Given the description of an element on the screen output the (x, y) to click on. 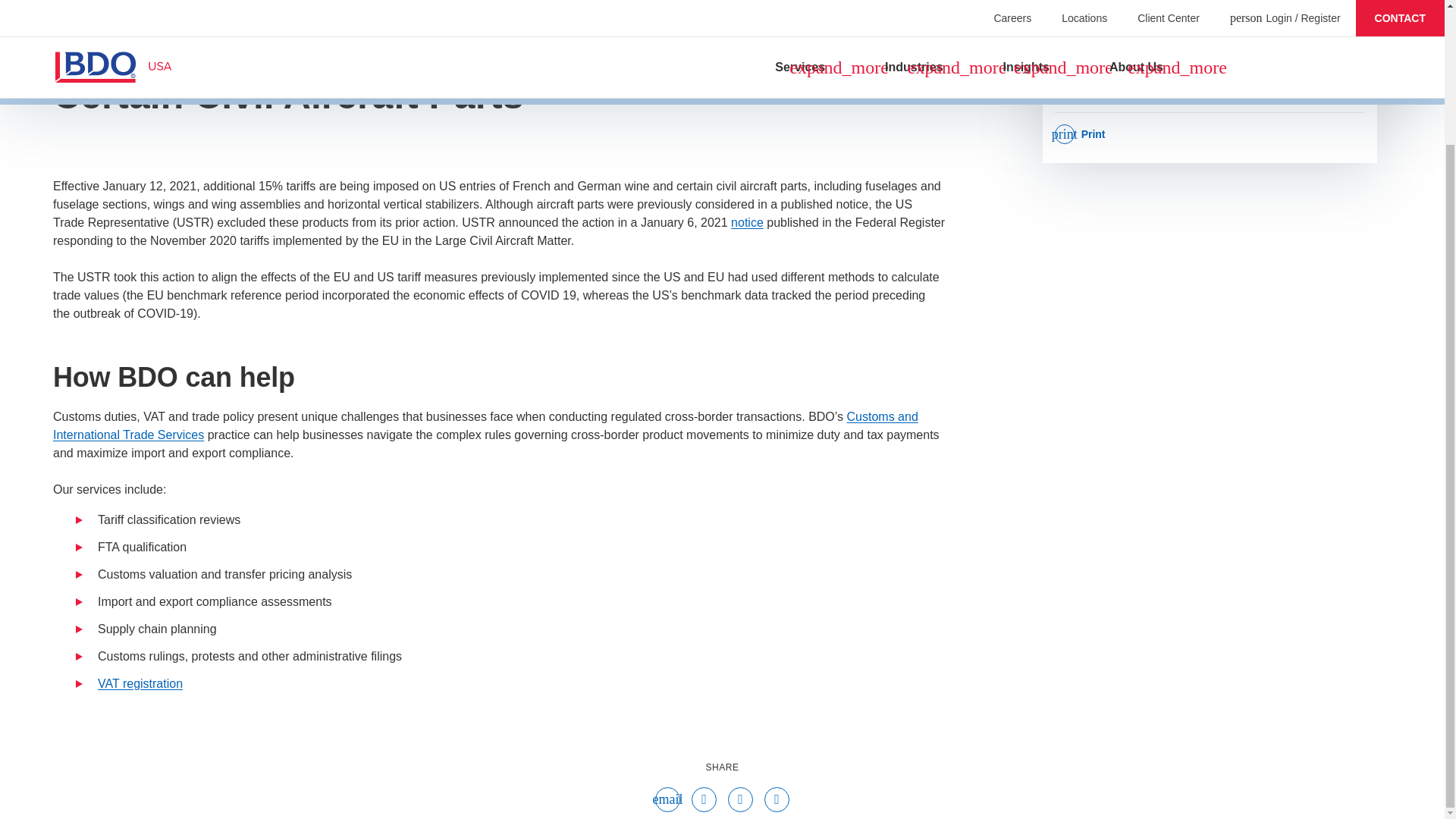
X (740, 799)
LinkedIn (776, 799)
Email This Insight (667, 799)
SHARE (722, 767)
Facebook (703, 799)
